Given the description of an element on the screen output the (x, y) to click on. 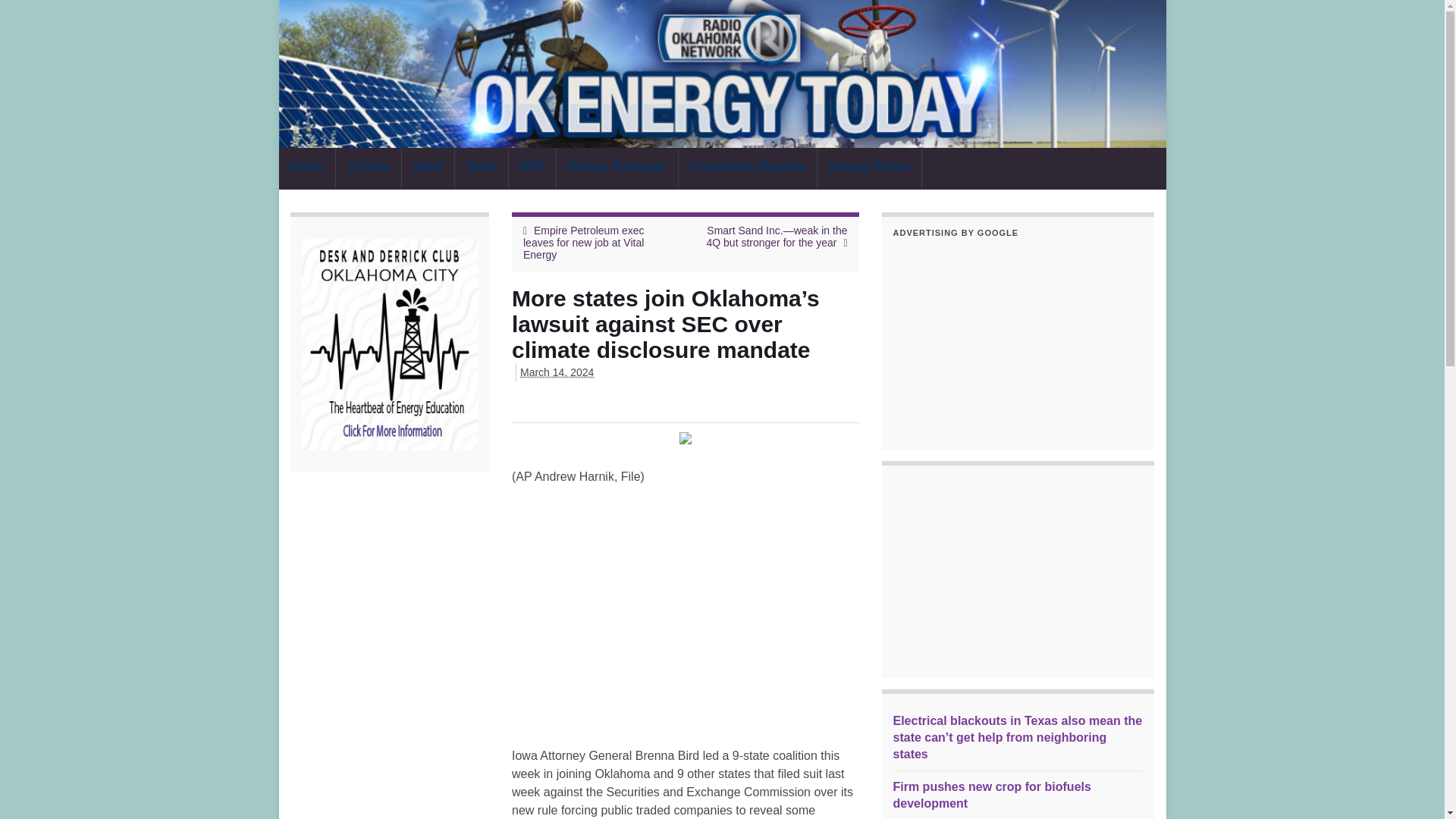
Wind (427, 168)
2024-03-14T11:38:36-05:00 (556, 372)
Empire Petroleum exec leaves for new job at Vital Energy (583, 242)
Home (306, 168)
Completion Reports (747, 168)
Firm pushes new crop for biofuels development (991, 794)
Advertisement (1017, 571)
Energy Prices (868, 168)
Energy Podcasts (617, 168)
EPA (532, 168)
